Given the description of an element on the screen output the (x, y) to click on. 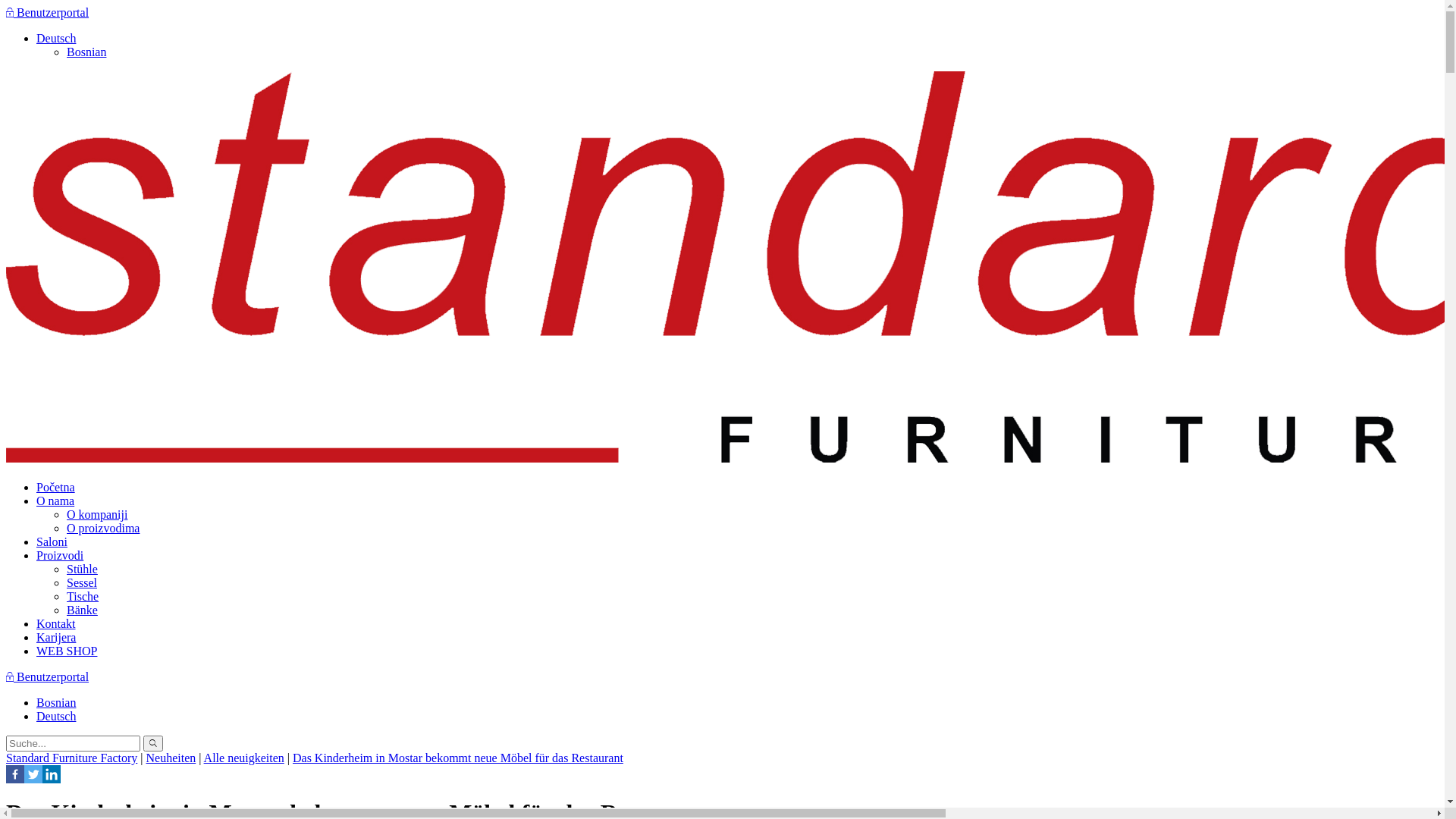
WEB SHOP Element type: text (66, 650)
Standard Furniture Factory Element type: text (71, 757)
Deutsch Element type: text (55, 37)
Bosnian Element type: text (55, 702)
Alle neuigkeiten Element type: text (243, 757)
Sessel Element type: text (81, 582)
Neuheiten Element type: text (170, 757)
Kontakt Element type: text (55, 623)
Twitter Element type: hover (33, 774)
Benutzerportal Element type: text (47, 676)
Facebook Element type: hover (15, 774)
Linkedin Element type: hover (51, 774)
Deutsch Element type: text (55, 715)
Karijera Element type: text (55, 636)
O proizvodima Element type: text (102, 527)
O nama Element type: text (55, 500)
Bosnian Element type: text (86, 51)
Benutzerportal Element type: text (47, 12)
Saloni Element type: text (51, 541)
O kompaniji Element type: text (96, 514)
Proizvodi Element type: text (59, 555)
Tische Element type: text (82, 595)
